Given the description of an element on the screen output the (x, y) to click on. 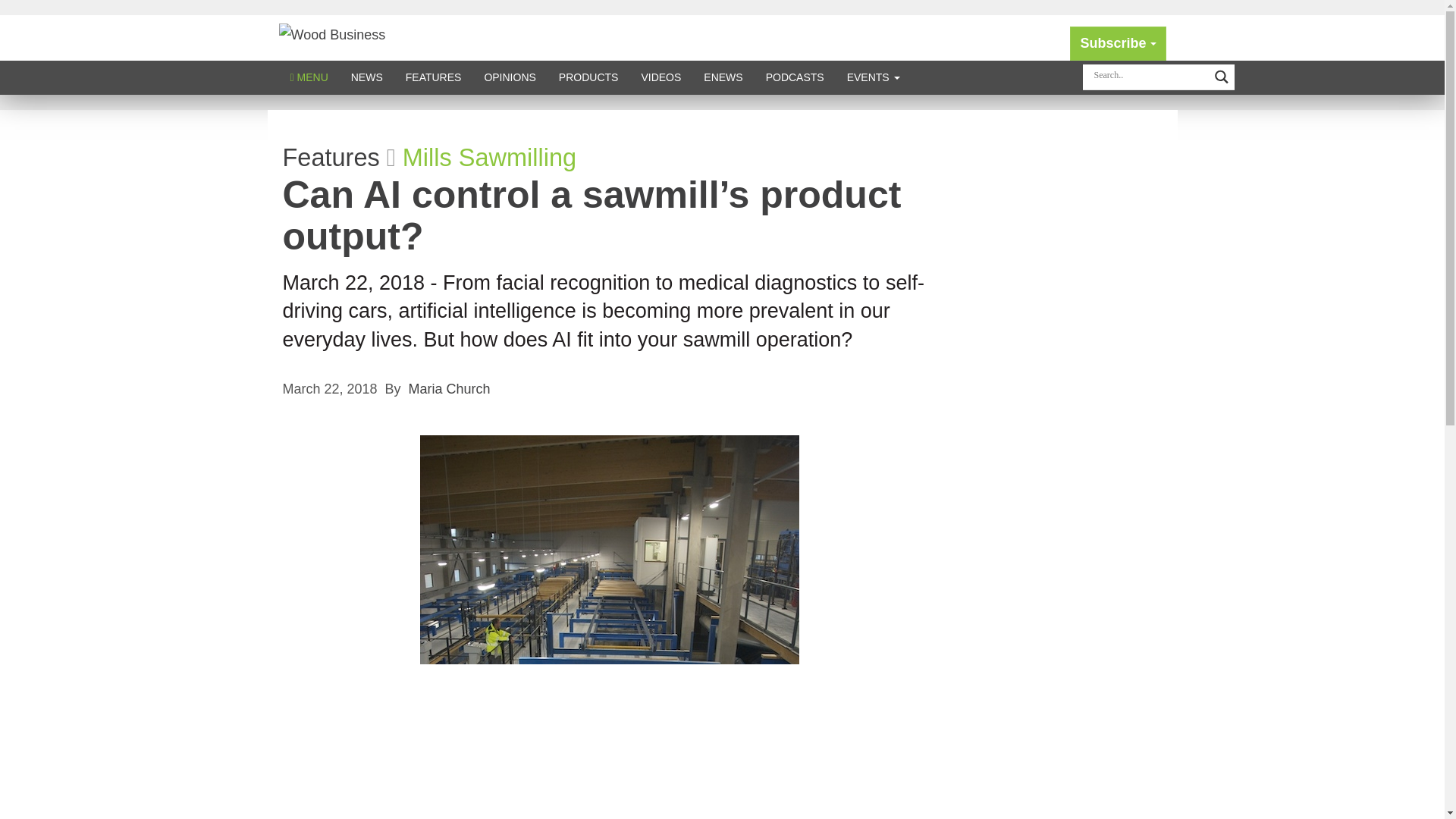
NEWS (366, 77)
ENEWS (723, 77)
FEATURES (433, 77)
Click to show site navigation (309, 77)
Wood Business (332, 33)
EVENTS (873, 77)
PRODUCTS (588, 77)
MENU (309, 77)
Subscribe (1118, 43)
OPINIONS (509, 77)
